Given the description of an element on the screen output the (x, y) to click on. 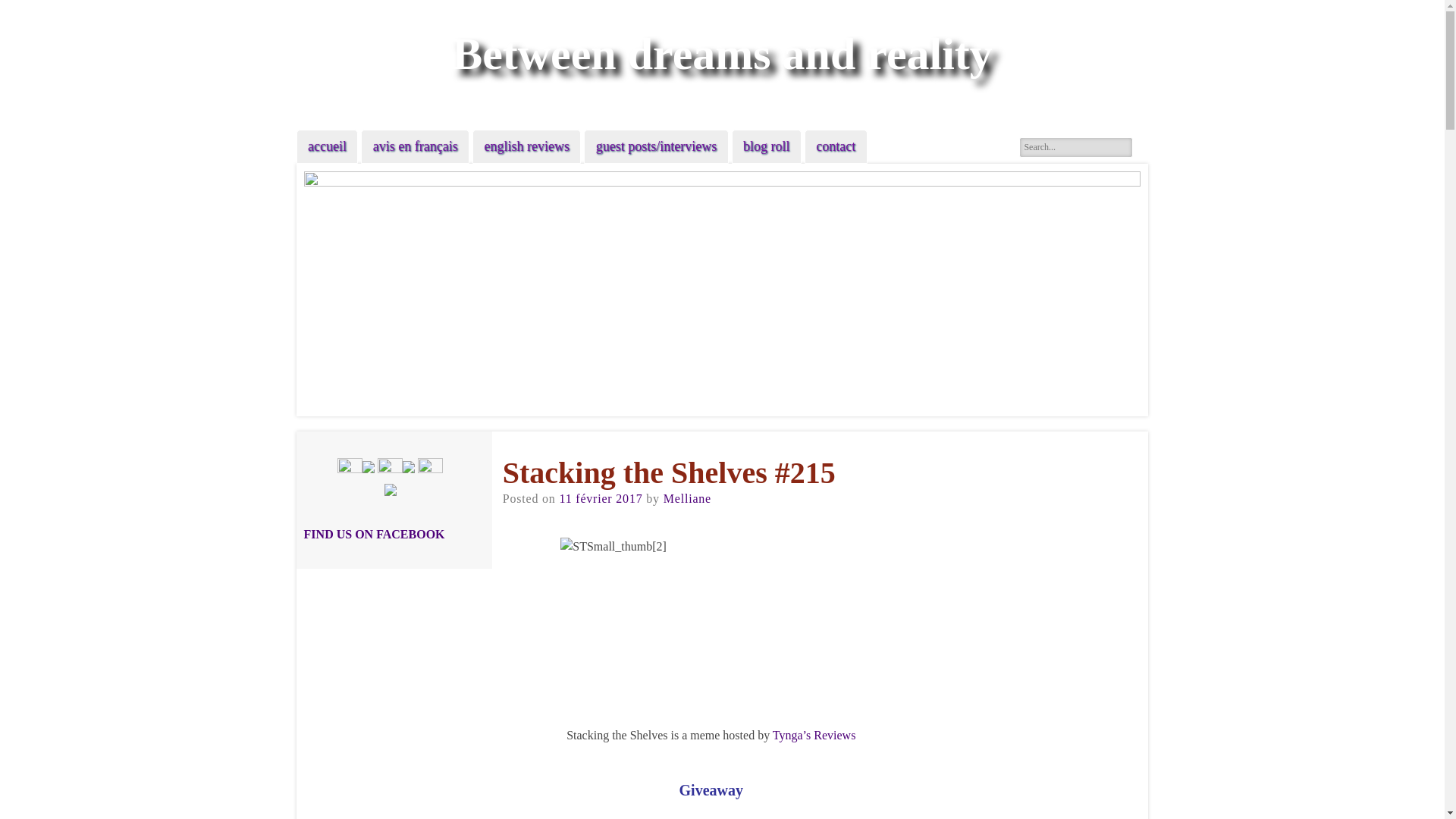
english reviews (526, 146)
accueil (327, 146)
blog roll (766, 146)
contact (835, 146)
Melliane (687, 498)
Between dreams and reality (721, 53)
13 h 41 min (600, 498)
View all posts by Melliane (687, 498)
Search (24, 9)
Between dreams and reality (721, 53)
